Given the description of an element on the screen output the (x, y) to click on. 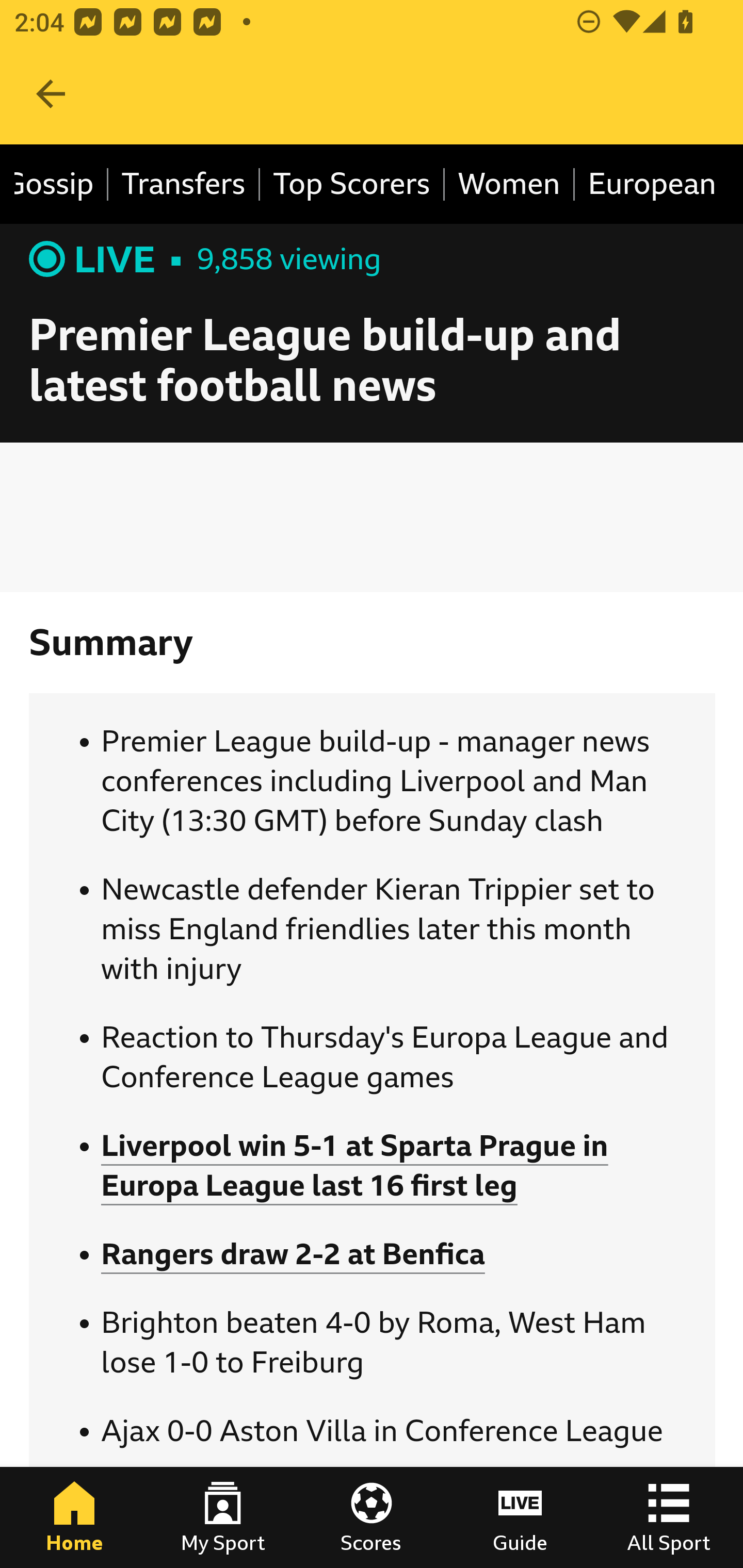
Navigate up (50, 93)
Gossip (61, 184)
Transfers (184, 184)
Top Scorers (352, 184)
Women (509, 184)
European (645, 184)
Rangers draw 2-2 at Benfica (293, 1254)
My Sport (222, 1517)
Scores (371, 1517)
Guide (519, 1517)
All Sport (668, 1517)
